Given the description of an element on the screen output the (x, y) to click on. 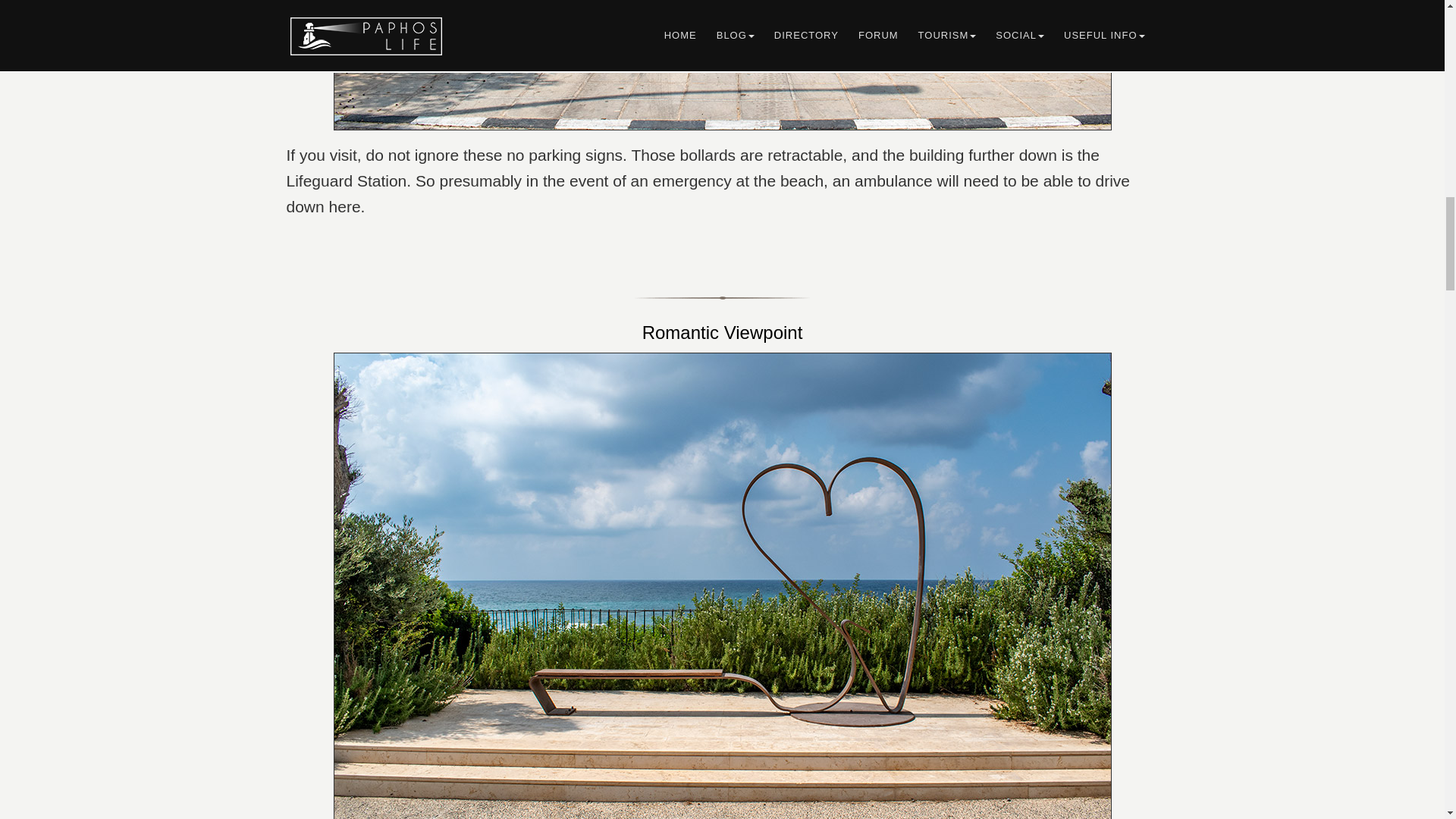
Kafizis-beach 02 (722, 65)
